Given the description of an element on the screen output the (x, y) to click on. 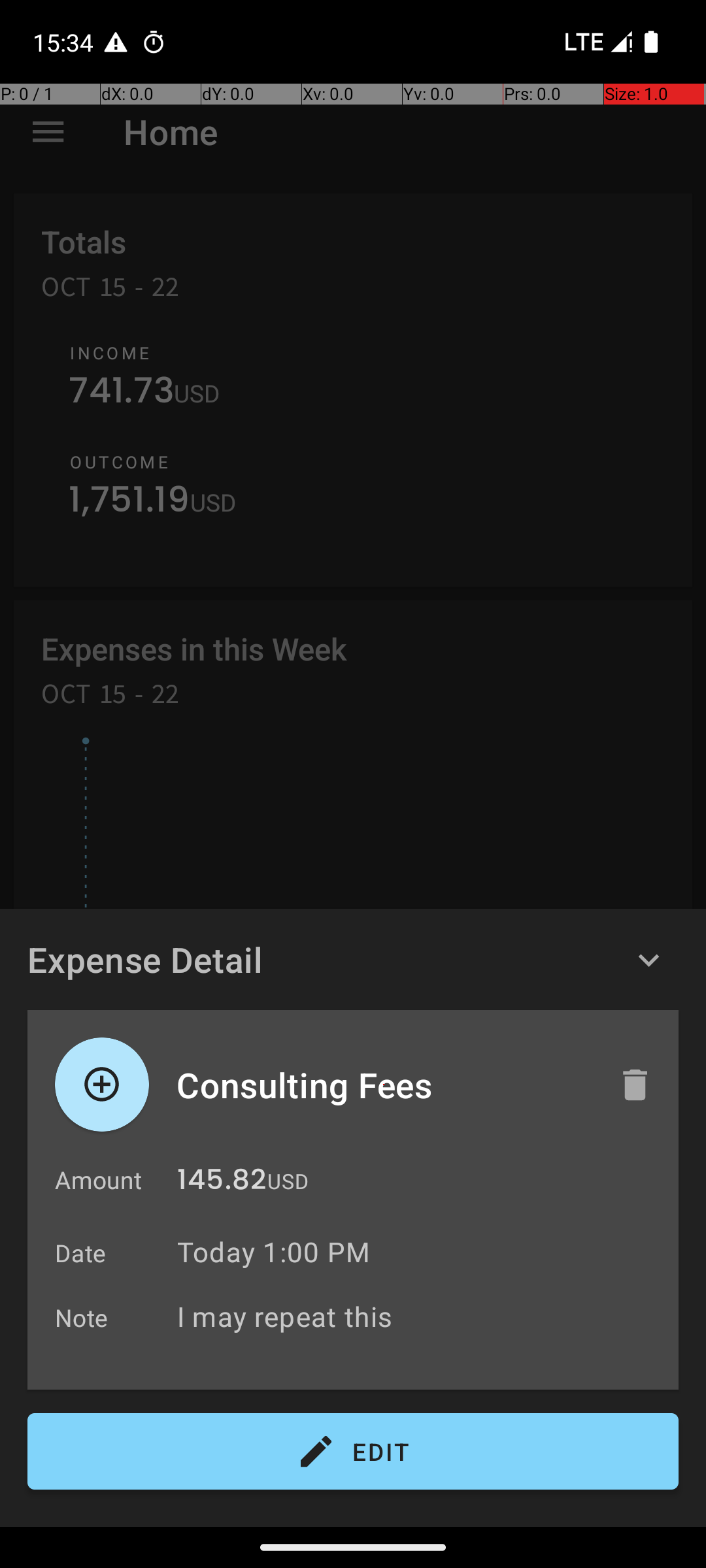
Consulting Fees Element type: android.widget.TextView (383, 1084)
145.82 Element type: android.widget.TextView (221, 1182)
Today 1:00 PM Element type: android.widget.TextView (273, 1251)
I may repeat this Element type: android.widget.TextView (420, 1315)
